Given the description of an element on the screen output the (x, y) to click on. 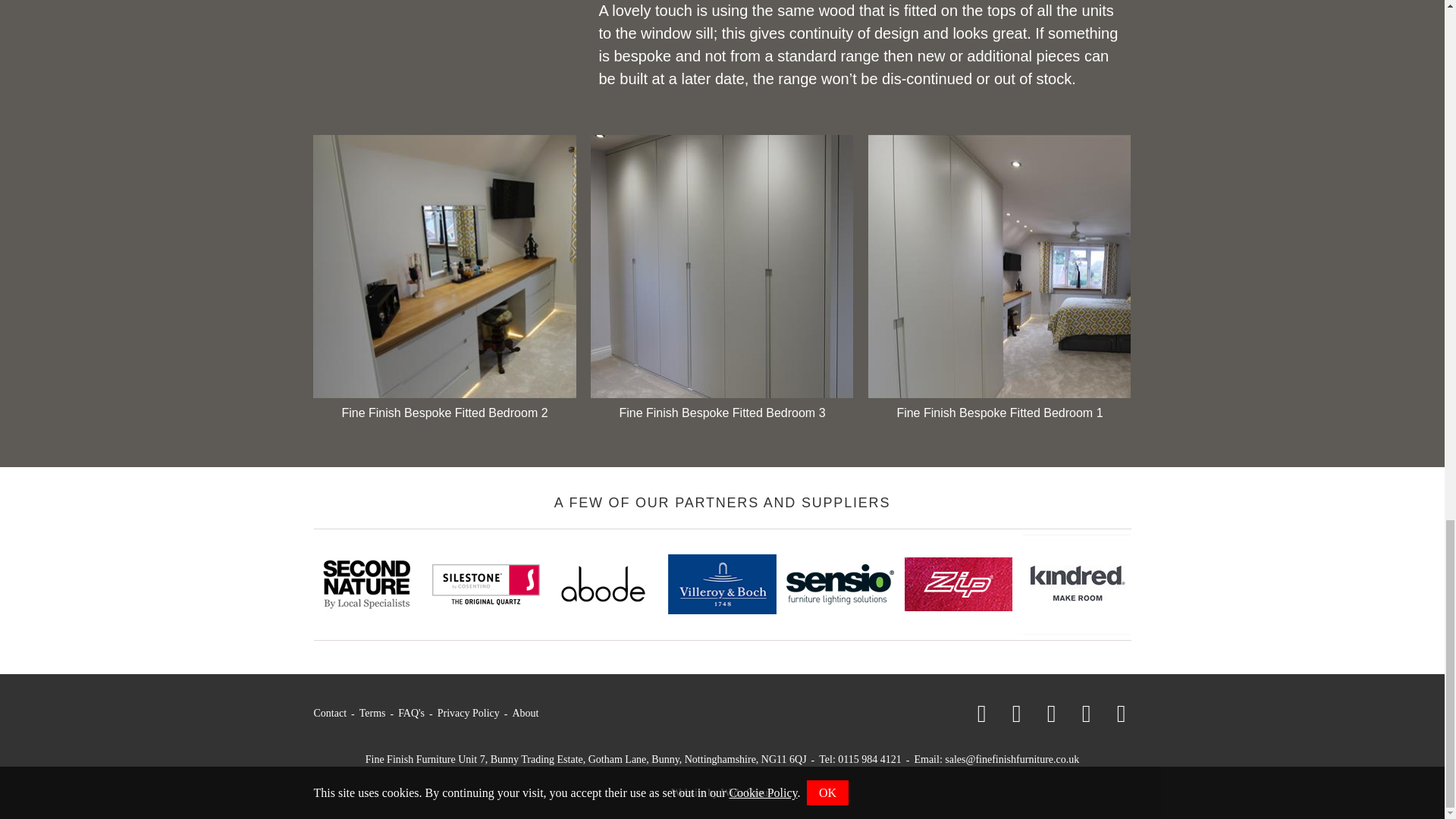
Trustpilot (1112, 713)
Youtube (1077, 713)
Fine Finish Bespoke Fitted Bedroom 1 (999, 281)
Wida Group (746, 792)
Instagram (1042, 713)
Terms (372, 713)
FAQ's (411, 713)
About (525, 713)
Twitter (1007, 713)
Fine Finish Bespoke Fitted Bedroom 2 (444, 281)
Contact (330, 713)
Privacy Policy (468, 713)
Facebook (972, 713)
Fine Finish Bespoke Fitted Bedroom 3 (722, 281)
